Given the description of an element on the screen output the (x, y) to click on. 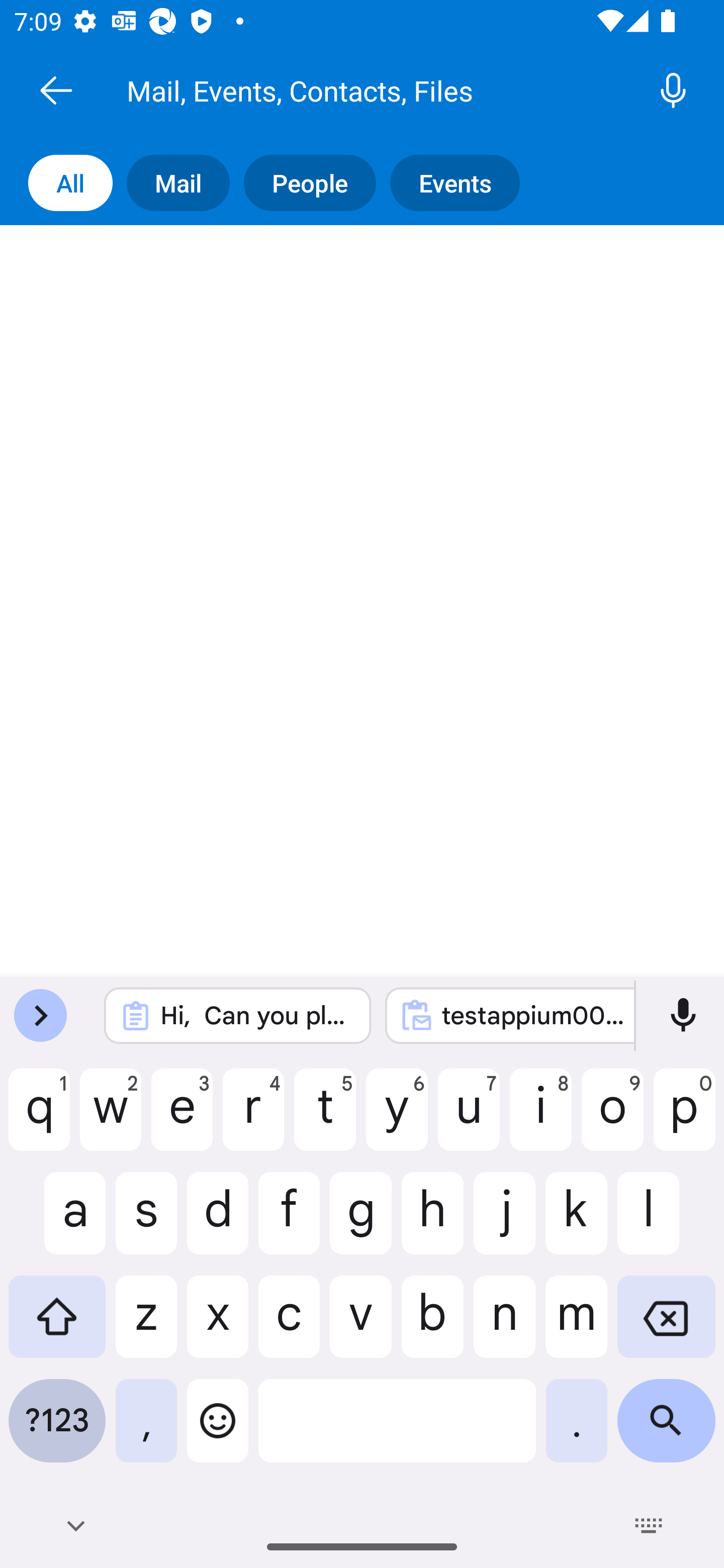
Close (55, 89)
Mail, Events, Contacts, Files (384, 89)
Voice Assistant (670, 89)
Mail (184, 183)
People (316, 183)
Events (462, 183)
